Given the description of an element on the screen output the (x, y) to click on. 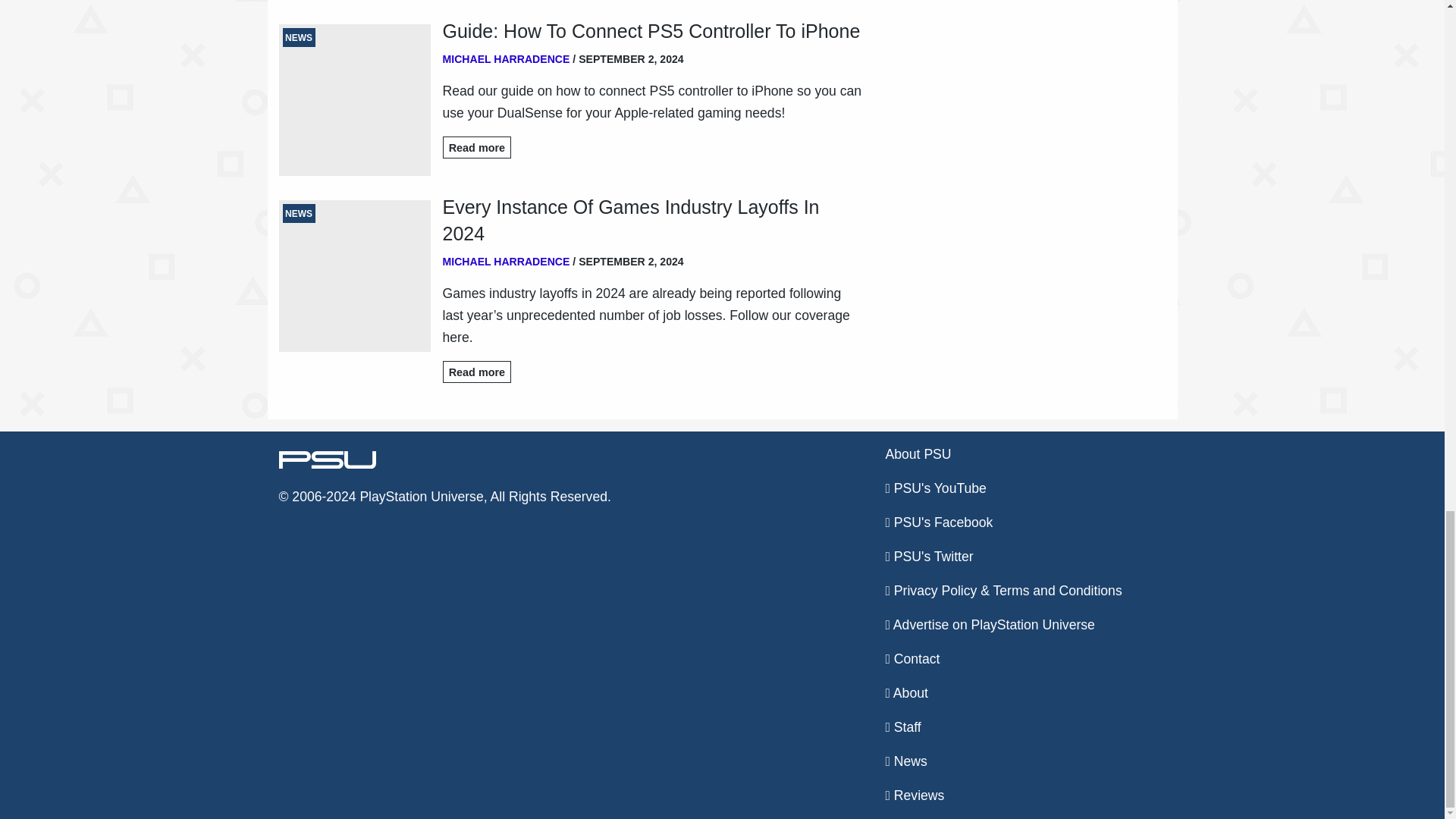
Guide: How To Connect PS5 Controller To iPhone (652, 31)
MICHAEL HARRADENCE (506, 59)
NEWS (354, 100)
NEWS (354, 275)
Every Instance Of Games Industry Layoffs In 2024 (652, 220)
Read more (477, 372)
MICHAEL HARRADENCE (506, 261)
Read more (477, 147)
